Given the description of an element on the screen output the (x, y) to click on. 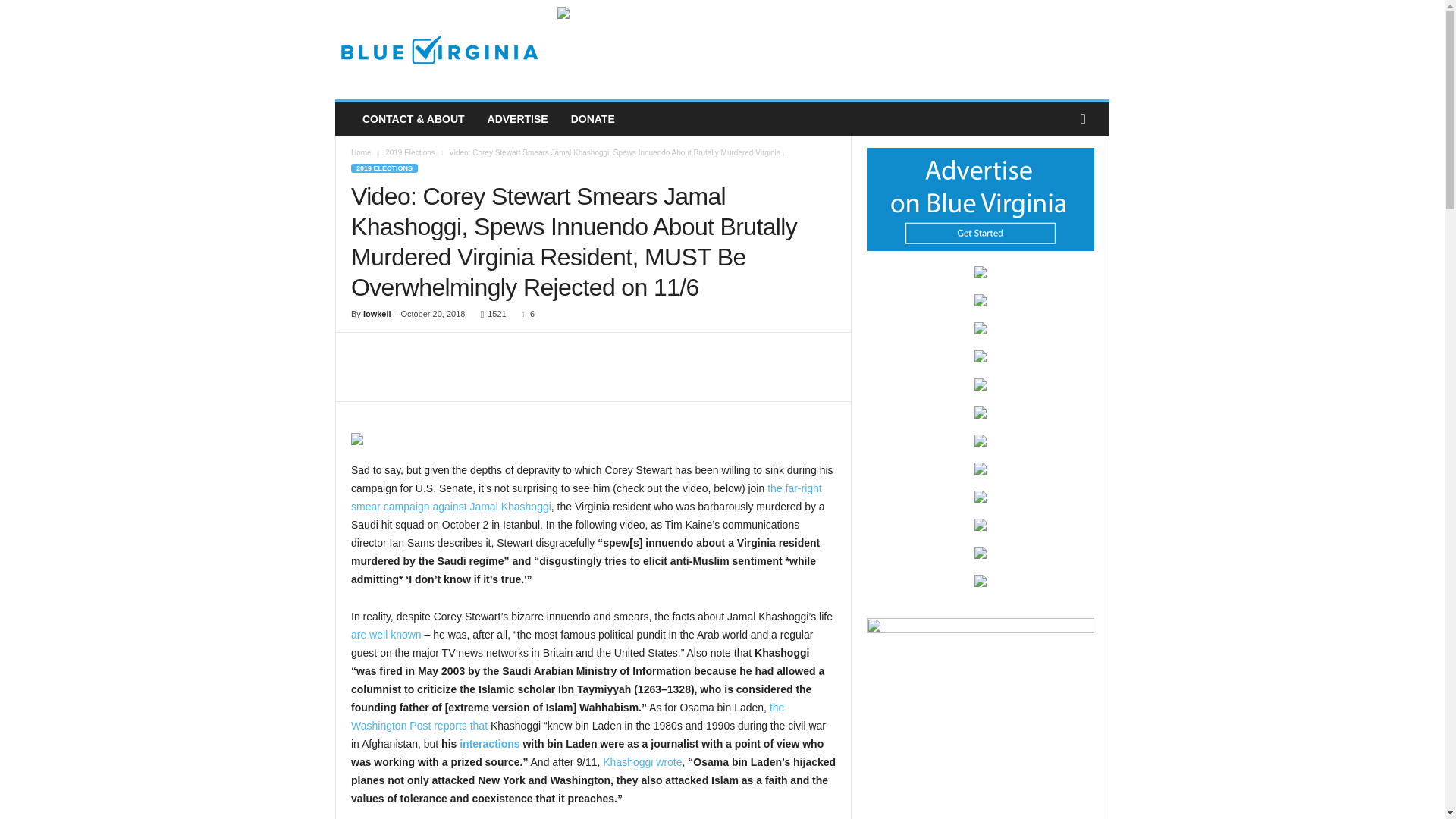
the far-right smear campaign against Jamal Khashoggi (586, 497)
View all posts in 2019 Elections (410, 152)
are well known (386, 634)
Khashoggi wrote (641, 761)
DONATE (592, 118)
the Washington Post reports that (567, 716)
lowkell (376, 313)
Blue Virginia (437, 49)
interactions (489, 743)
ADVERTISE (517, 118)
